Given the description of an element on the screen output the (x, y) to click on. 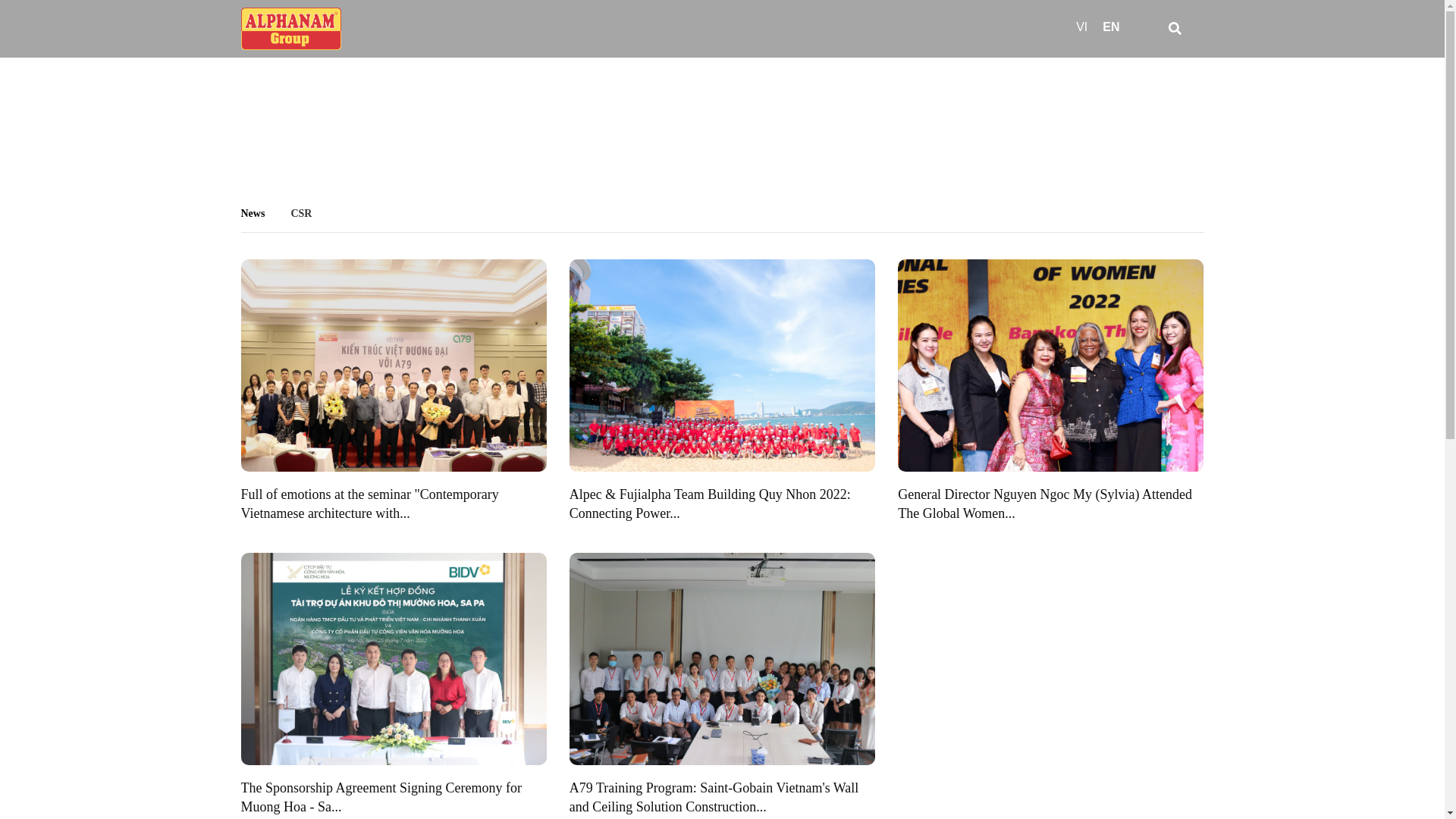
CSR (311, 213)
News (264, 213)
VI (1077, 26)
EN (1106, 26)
